Given the description of an element on the screen output the (x, y) to click on. 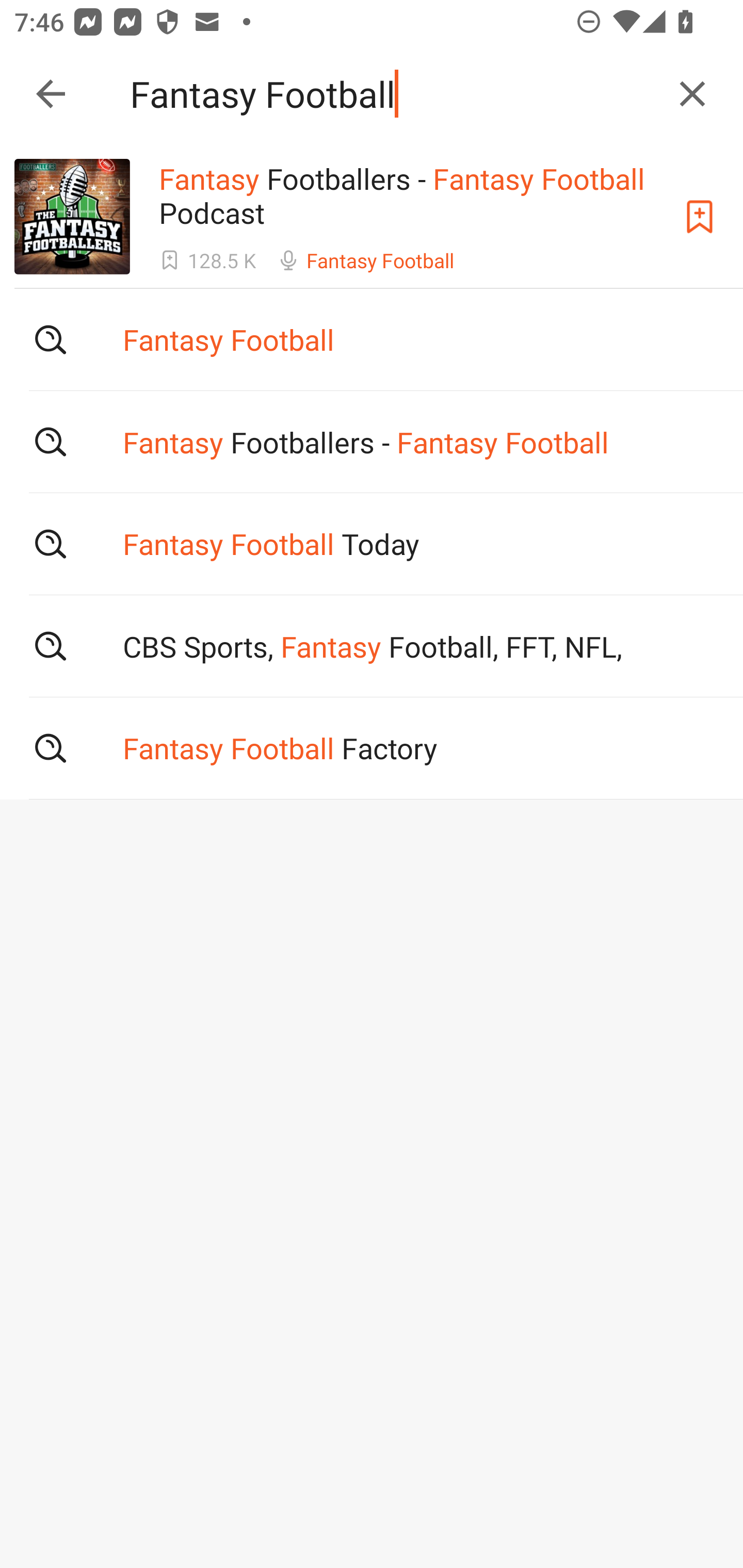
Collapse (50, 93)
Clear query (692, 93)
Fantasy Football (393, 94)
Subscribe (699, 216)
 Fantasy Football (371, 339)
 Fantasy Footballers - Fantasy Football Podcast (371, 441)
 Fantasy Football Today (371, 543)
 Fantasy Football Factory (371, 748)
